Given the description of an element on the screen output the (x, y) to click on. 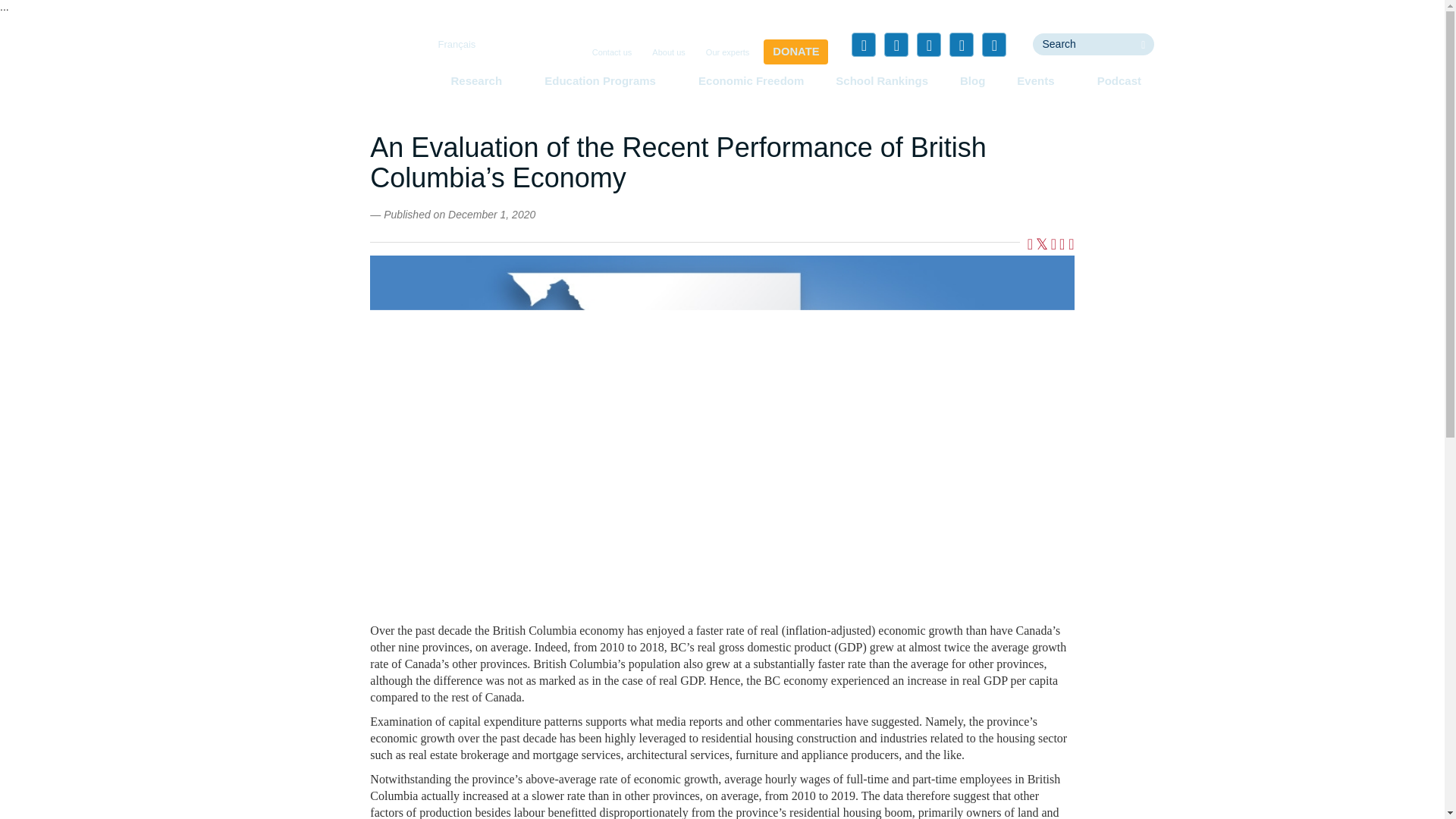
DONATE (795, 51)
Enter the terms you wish to search for. (1082, 44)
Home (352, 71)
LinkedIn (928, 44)
About us (668, 52)
Twitter (895, 44)
YouTube (961, 44)
Research (481, 80)
Facebook (863, 44)
